Given the description of an element on the screen output the (x, y) to click on. 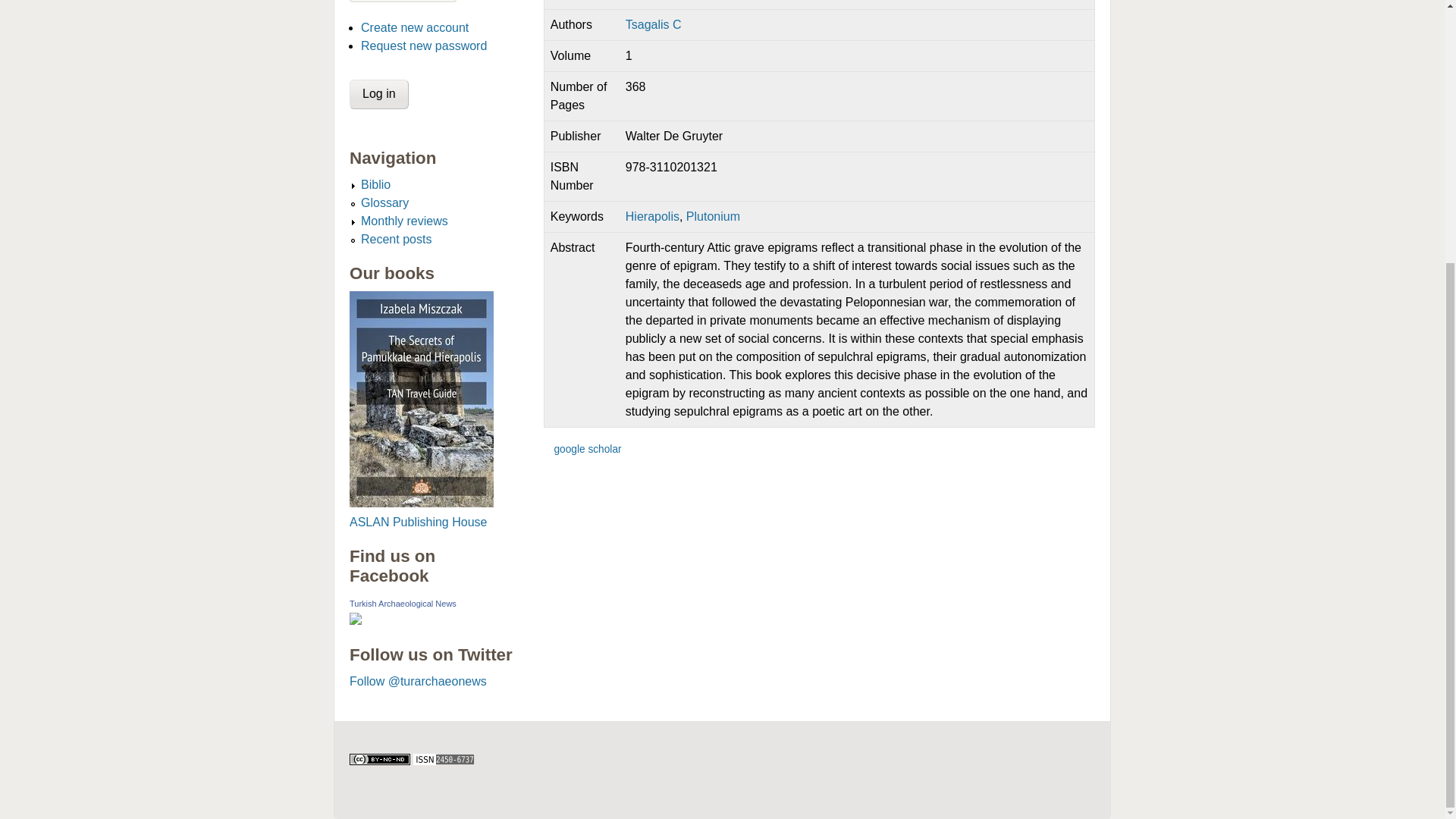
ASLAN Publishing House (417, 521)
Click to search Google Scholar for this entry (587, 449)
Tsagalis C (653, 24)
Request new password (423, 45)
Request new password via e-mail. (423, 45)
Hierapolis (652, 215)
Plutonium (712, 215)
Turkish Archaeological News (403, 603)
Log in (379, 93)
Create new account (414, 27)
Recent posts (395, 238)
Log in (379, 93)
Create a new user account. (414, 27)
google scholar (587, 449)
Follow us on Twitter (431, 655)
